Given the description of an element on the screen output the (x, y) to click on. 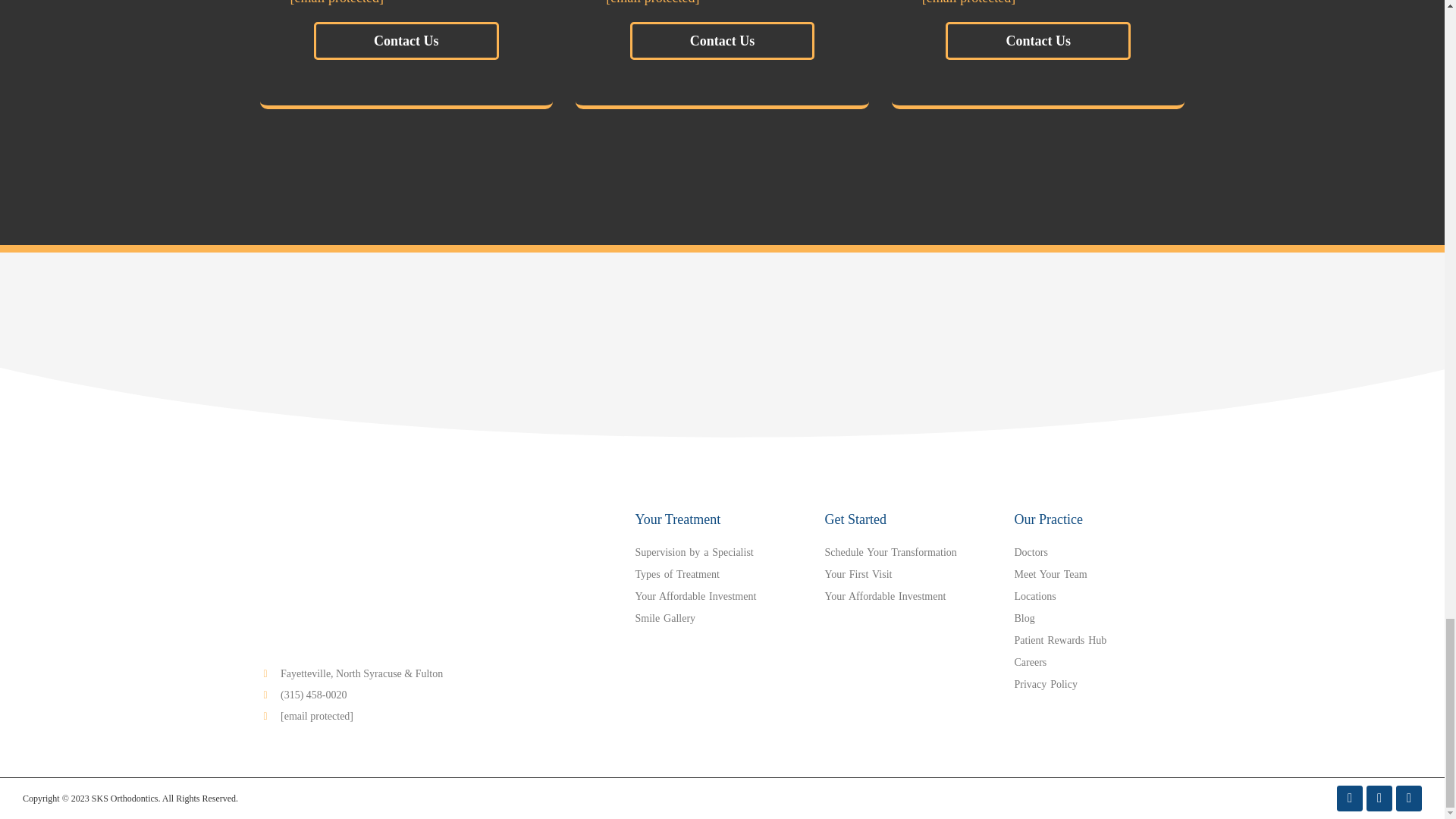
Contact Us (406, 40)
Supervision by a Specialist (721, 552)
Your Affordable Investment (721, 596)
Contact Us (722, 40)
Smile Gallery (721, 618)
Contact Us (1037, 40)
Types of Treatment (721, 574)
